Given the description of an element on the screen output the (x, y) to click on. 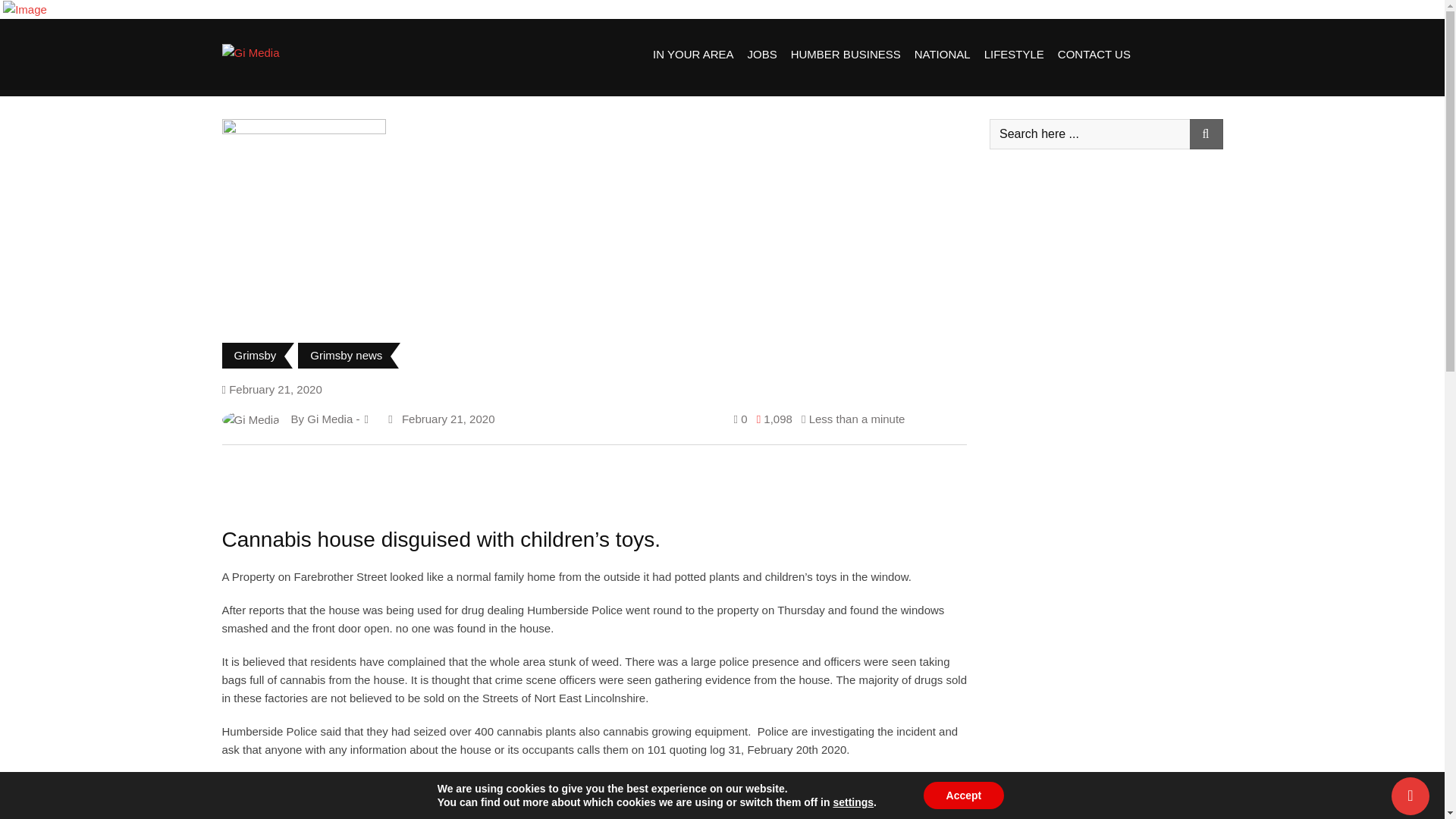
IN YOUR AREA (692, 54)
